Given the description of an element on the screen output the (x, y) to click on. 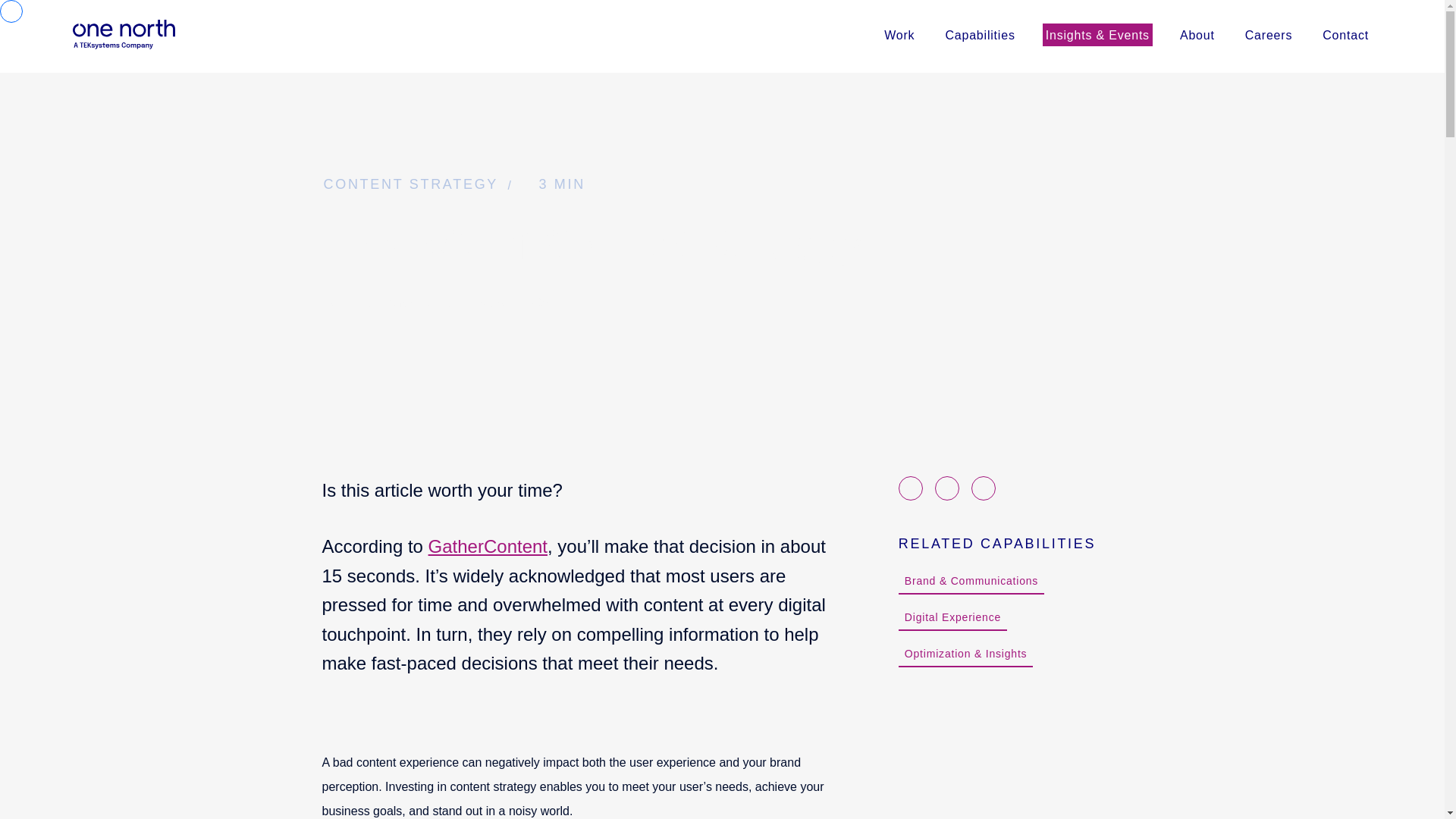
Careers (1268, 33)
Contact (1345, 33)
Capabilities (979, 33)
Work (952, 616)
Skip to content (898, 33)
GatherContent (721, 16)
About (487, 546)
